Given the description of an element on the screen output the (x, y) to click on. 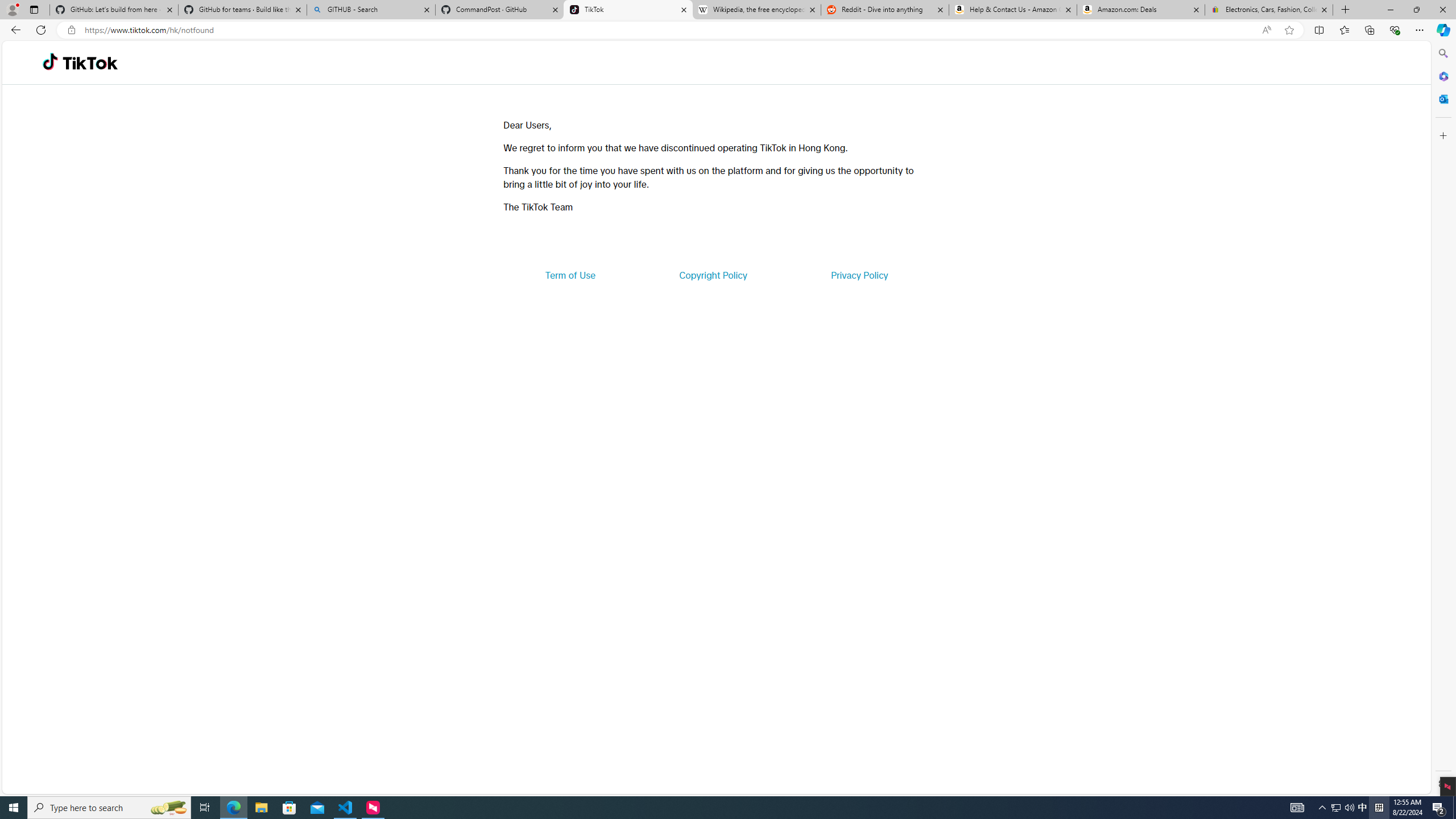
Copyright Policy (712, 274)
Privacy Policy (858, 274)
TikTok (628, 9)
Wikipedia, the free encyclopedia (756, 9)
